Given the description of an element on the screen output the (x, y) to click on. 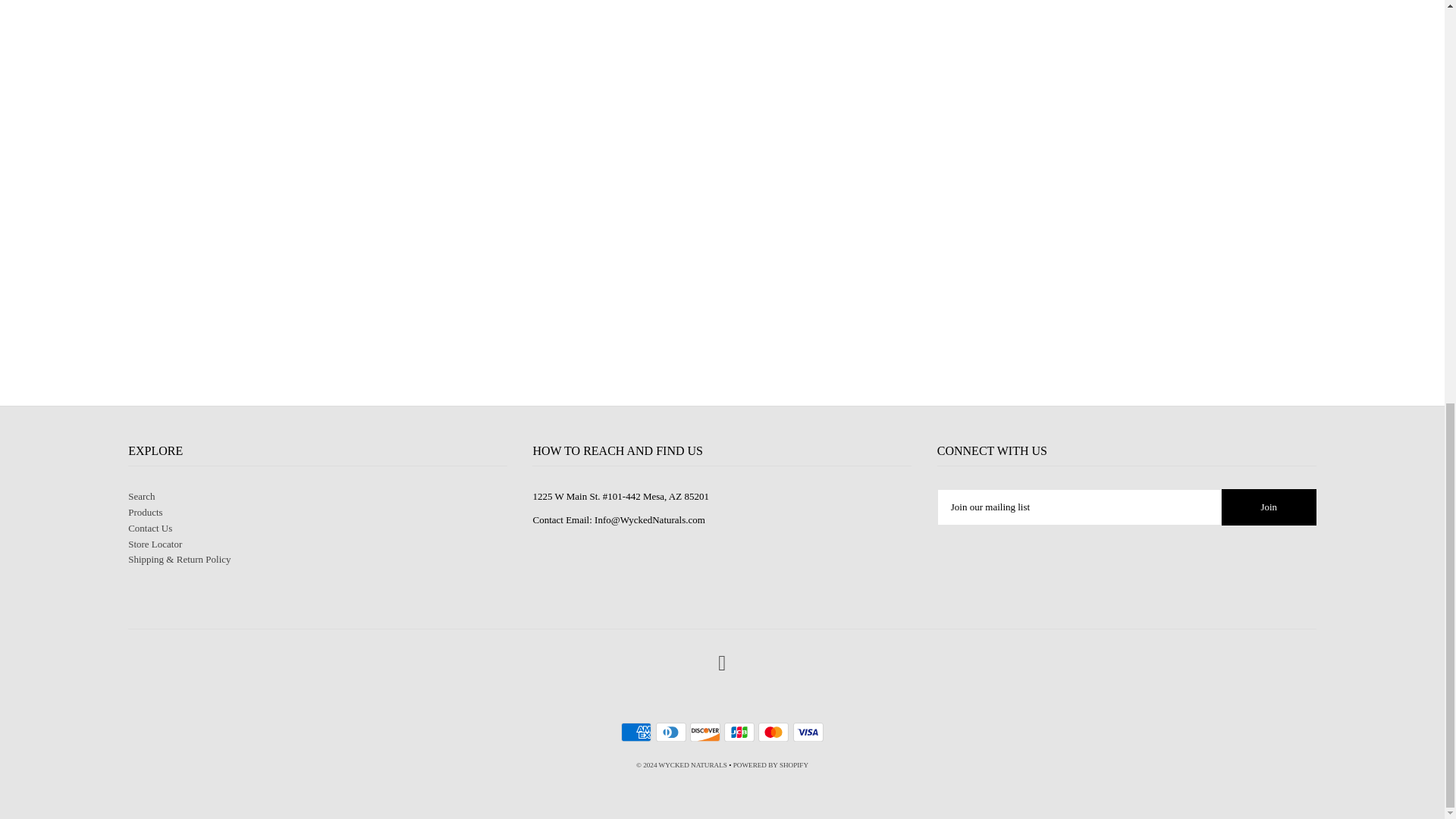
American Express (635, 732)
Mastercard (773, 732)
Join (1268, 506)
Diners Club (670, 732)
Visa (808, 732)
Search (141, 496)
JCB (738, 732)
Discover (705, 732)
